Given the description of an element on the screen output the (x, y) to click on. 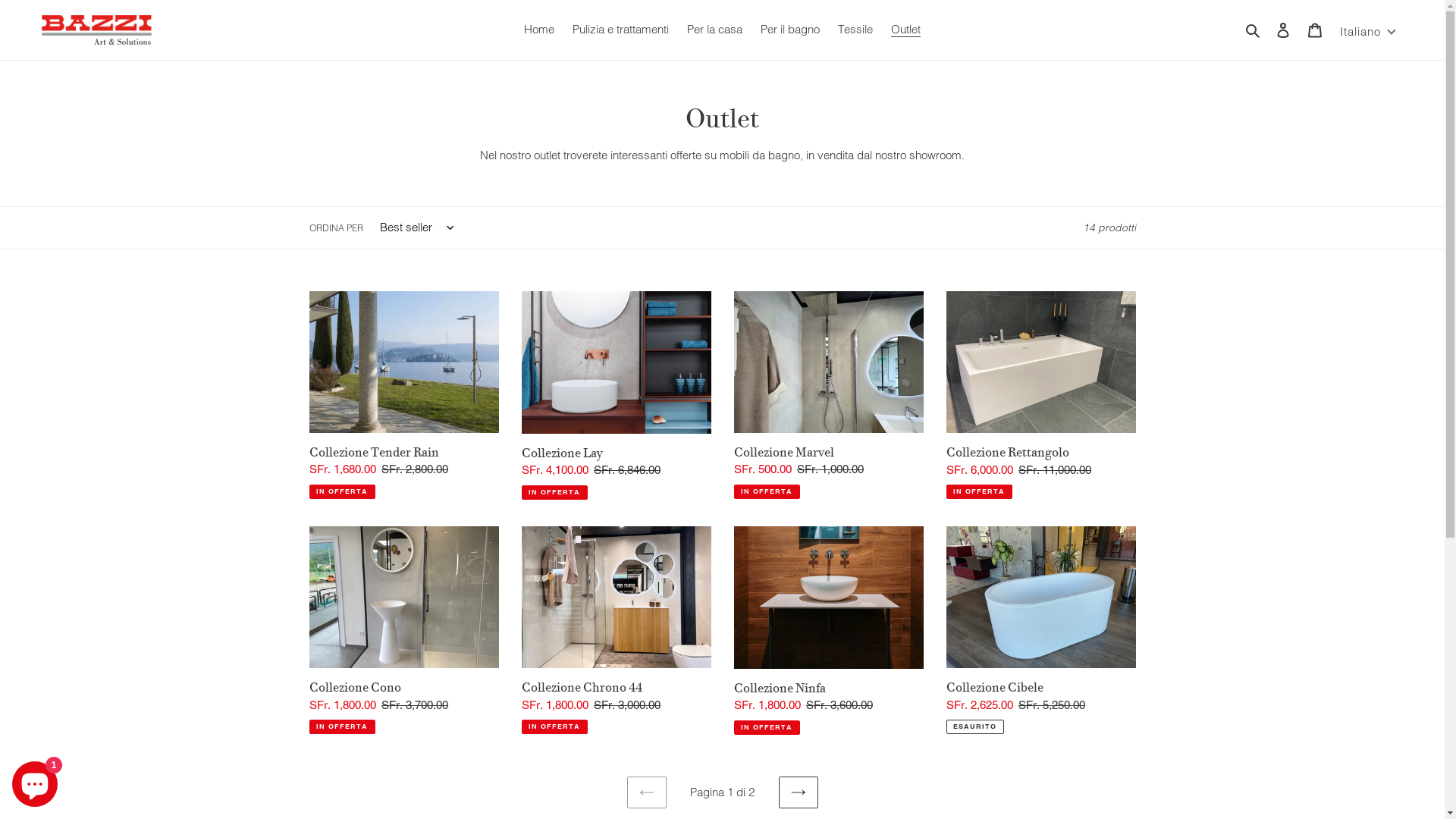
Collezione Cono Element type: text (403, 630)
Home Element type: text (538, 29)
Collezione Lay Element type: text (616, 395)
Collezione Rettangolo Element type: text (1040, 395)
Carrello Element type: text (1314, 29)
Collezione Ninfa Element type: text (828, 630)
Collezione Cibele Element type: text (1040, 630)
Per la casa Element type: text (714, 29)
Collezione Marvel Element type: text (828, 394)
Chat negozio online di Shopify Element type: hover (34, 780)
PAGINA SUCCESSIVA Element type: text (797, 792)
Per il bagno Element type: text (790, 29)
Tessile Element type: text (855, 29)
Cerca Element type: text (1253, 29)
Collezione Tender Rain Element type: text (403, 394)
Outlet Element type: text (905, 29)
PAGINA PRECEDENTE Element type: text (645, 792)
Accedi Element type: text (1283, 29)
Collezione Chrono 44 Element type: text (616, 630)
Pulizia e trattamenti Element type: text (620, 29)
